Given the description of an element on the screen output the (x, y) to click on. 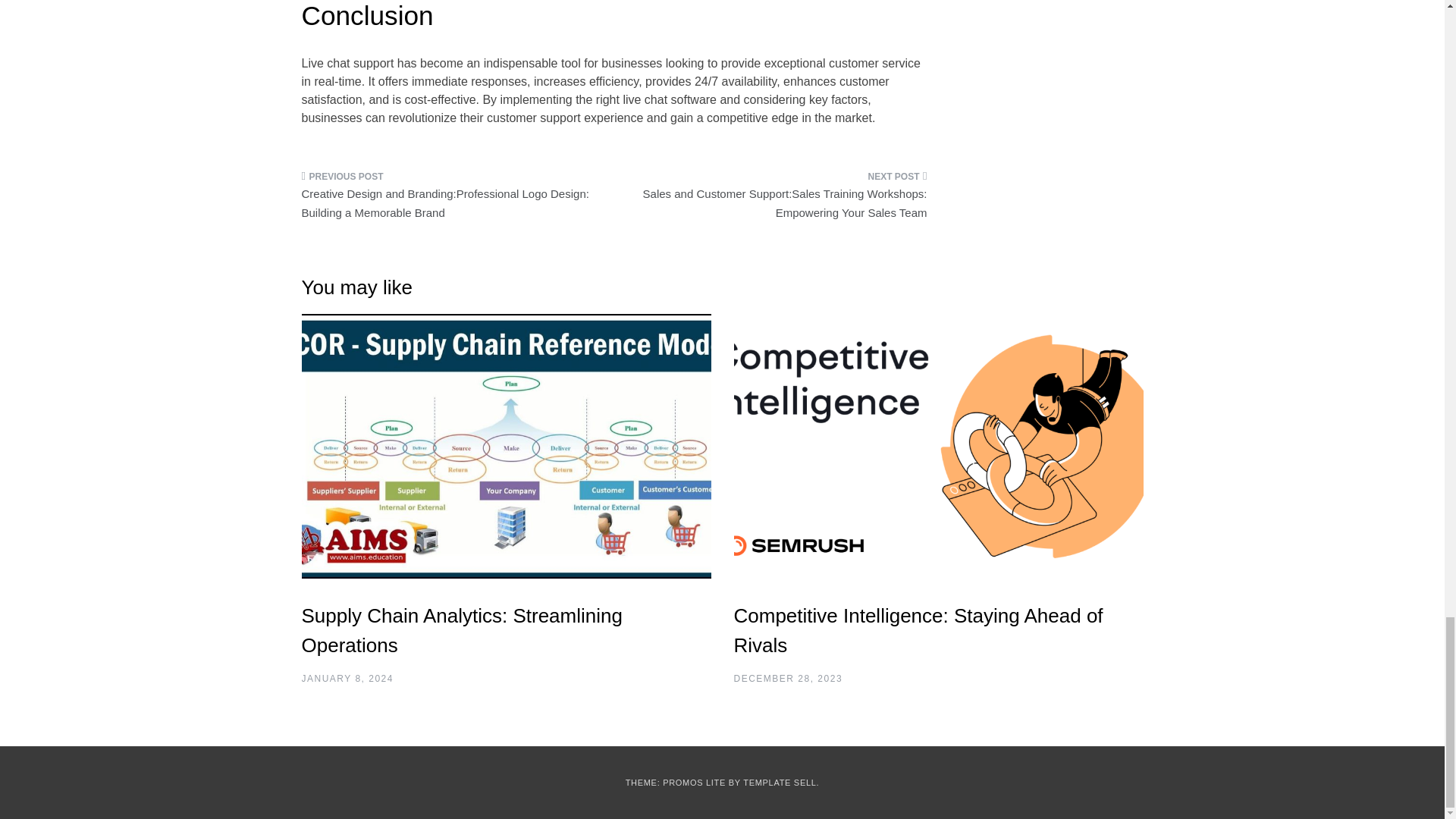
TEMPLATE SELL (778, 782)
Supply Chain Analytics: Streamlining Operations (462, 630)
Competitive Intelligence: Staying Ahead of Rivals (918, 630)
